Given the description of an element on the screen output the (x, y) to click on. 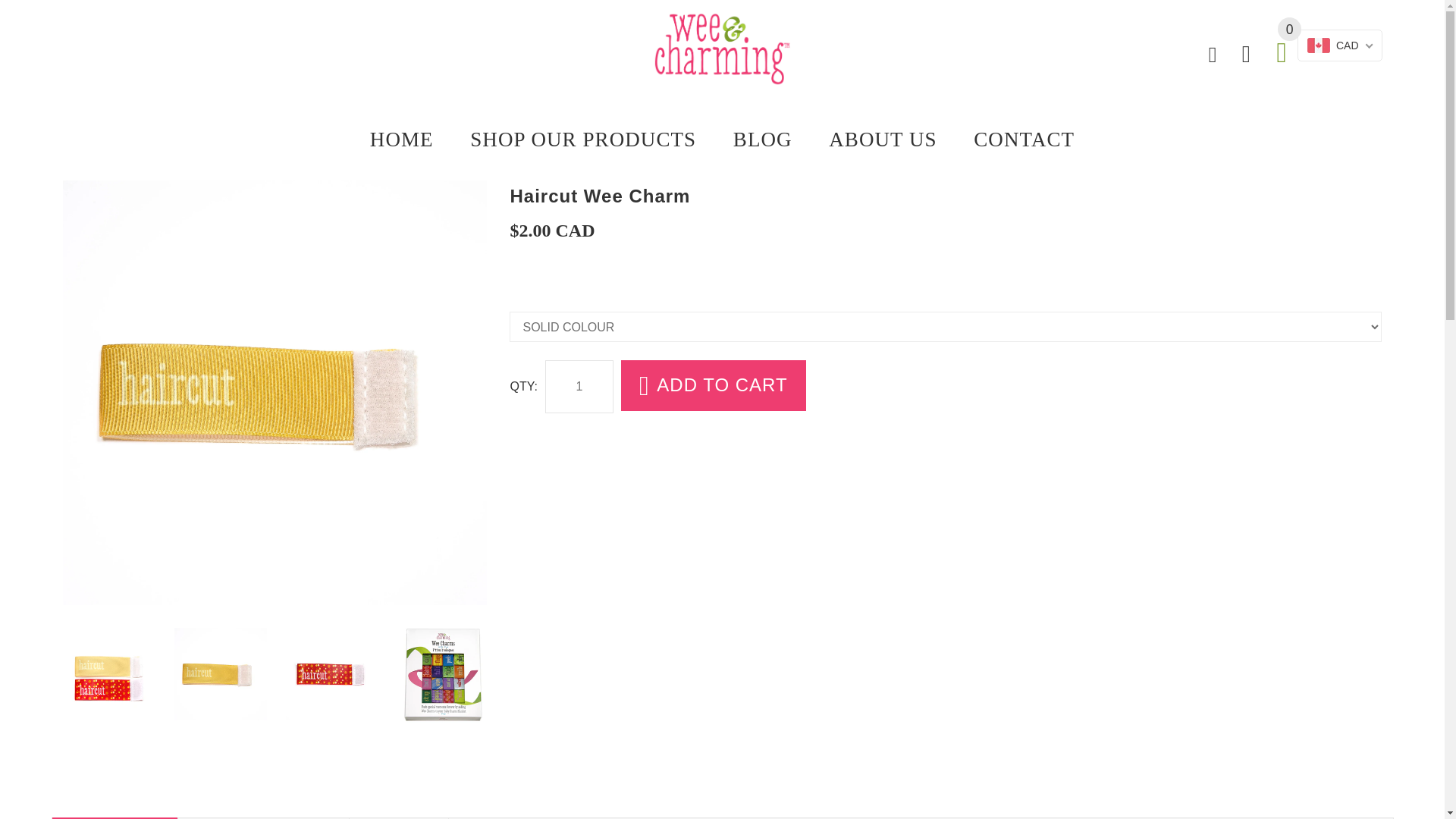
ABOUT US (882, 137)
BLOG (761, 137)
SHOP OUR PRODUCTS (582, 137)
CONTACT (1014, 137)
1 (578, 386)
HOME (410, 137)
